Given the description of an element on the screen output the (x, y) to click on. 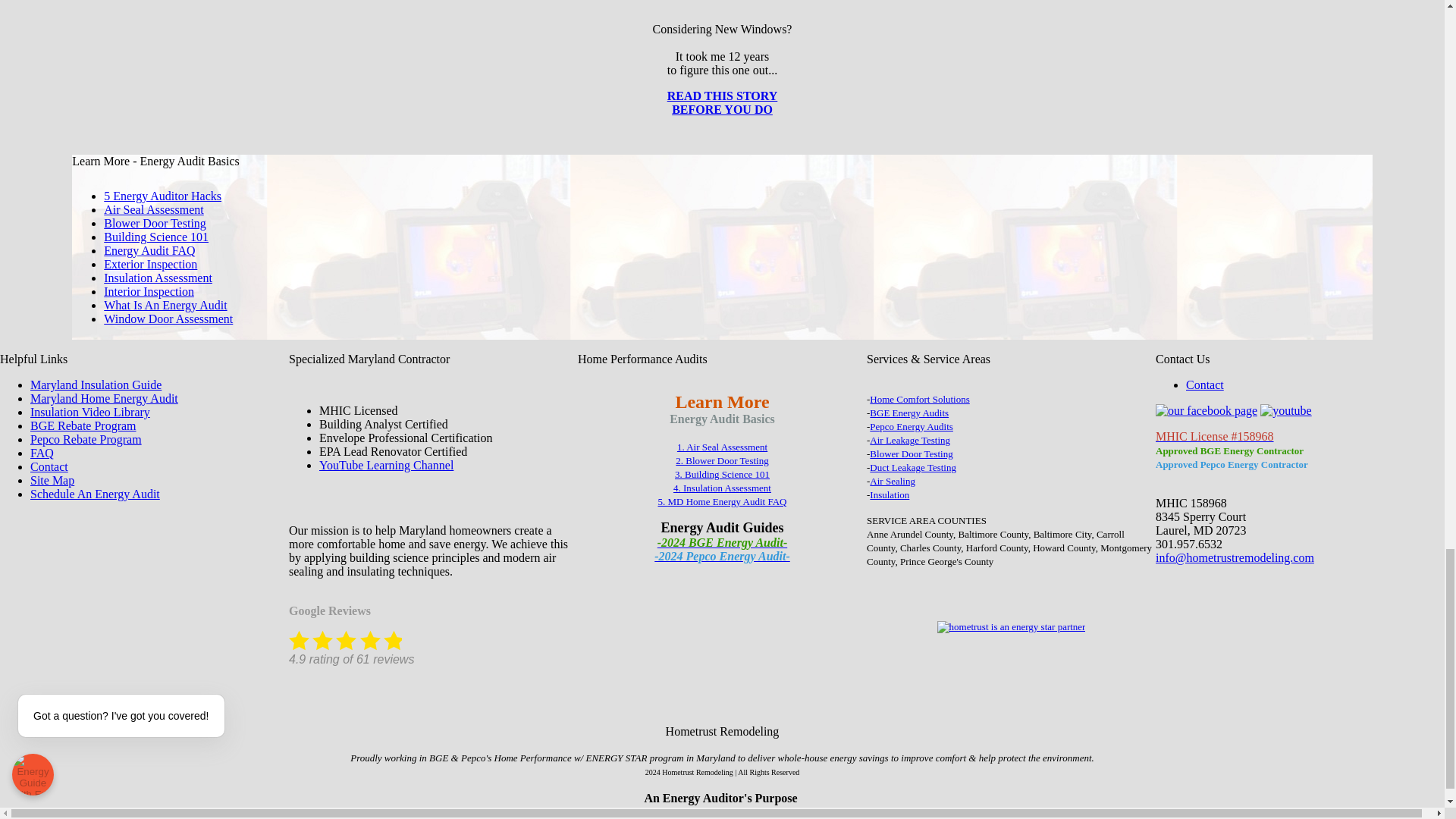
Exterior Inspection (149, 264)
Insulation Assessment (157, 277)
READ THIS STORY (721, 95)
BGE Rebate Program (83, 425)
What Is An Energy Audit (165, 305)
Building Science 101 (155, 236)
Insulation Video Library (89, 411)
Interior Inspection (148, 291)
Pepco Rebate Program (85, 439)
Blower Door Testing (154, 223)
Energy Audit FAQ (149, 250)
Maryland Home Energy Audit (103, 398)
FAQ (41, 452)
BEFORE YOU DO (722, 109)
Maryland Insulation Guide (95, 384)
